Given the description of an element on the screen output the (x, y) to click on. 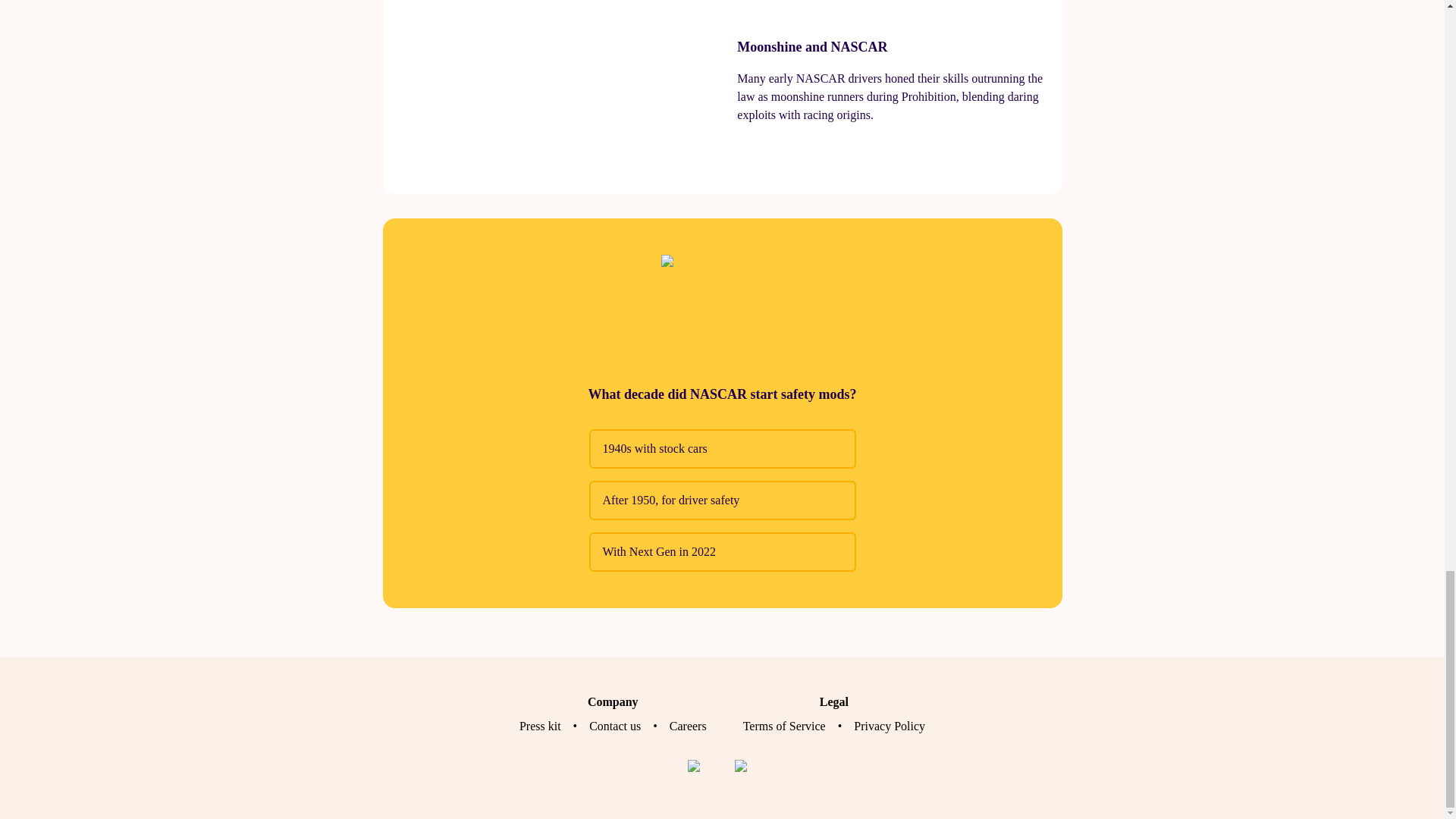
Privacy Policy (888, 725)
Terms of Service (783, 725)
Press kit (539, 725)
Contact us (614, 725)
Careers (687, 725)
